Given the description of an element on the screen output the (x, y) to click on. 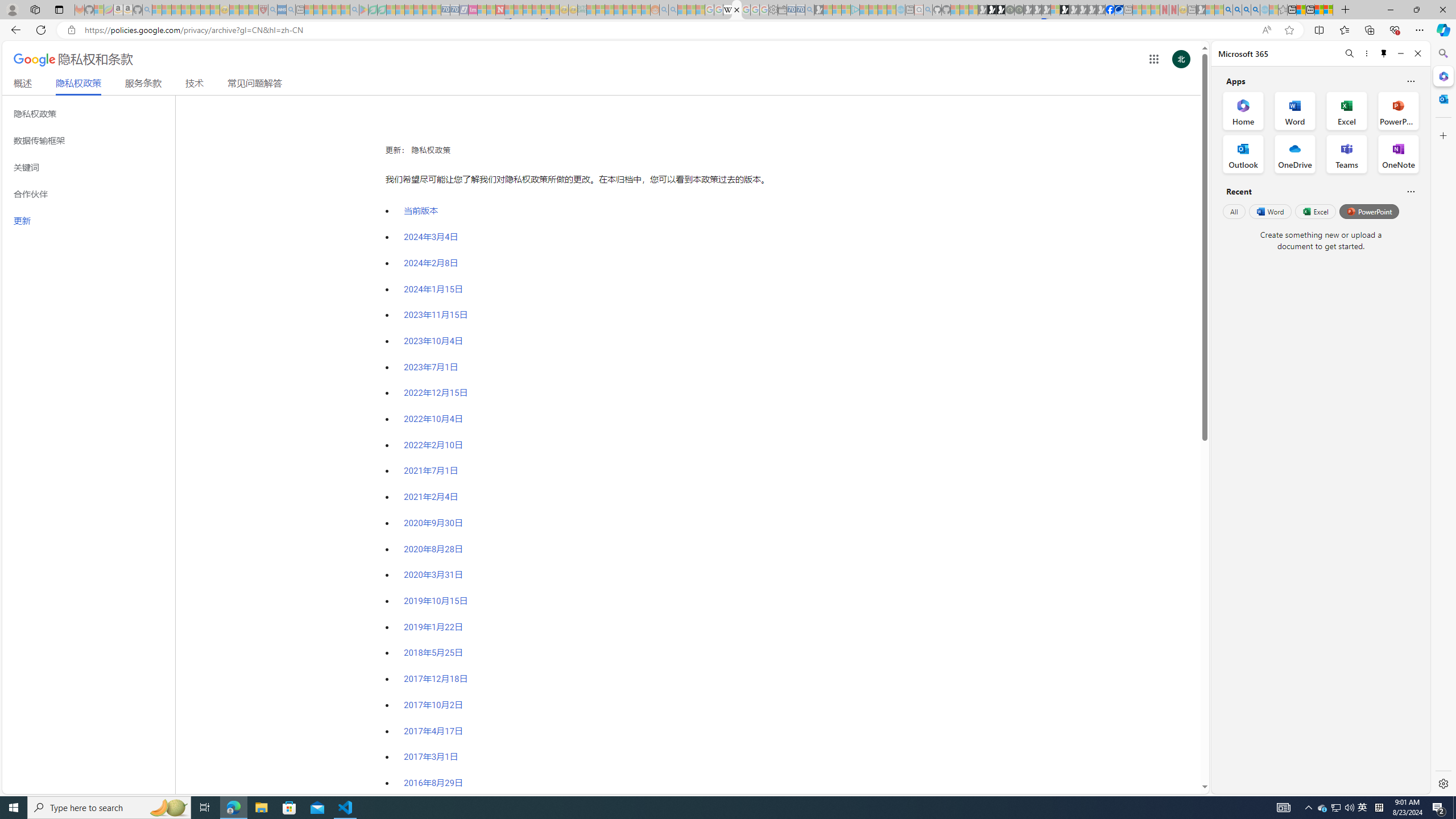
Bing AI - Search (1227, 9)
Jobs - lastminute.com Investor Portal - Sleeping (472, 9)
Target page - Wikipedia (726, 9)
